Given the description of an element on the screen output the (x, y) to click on. 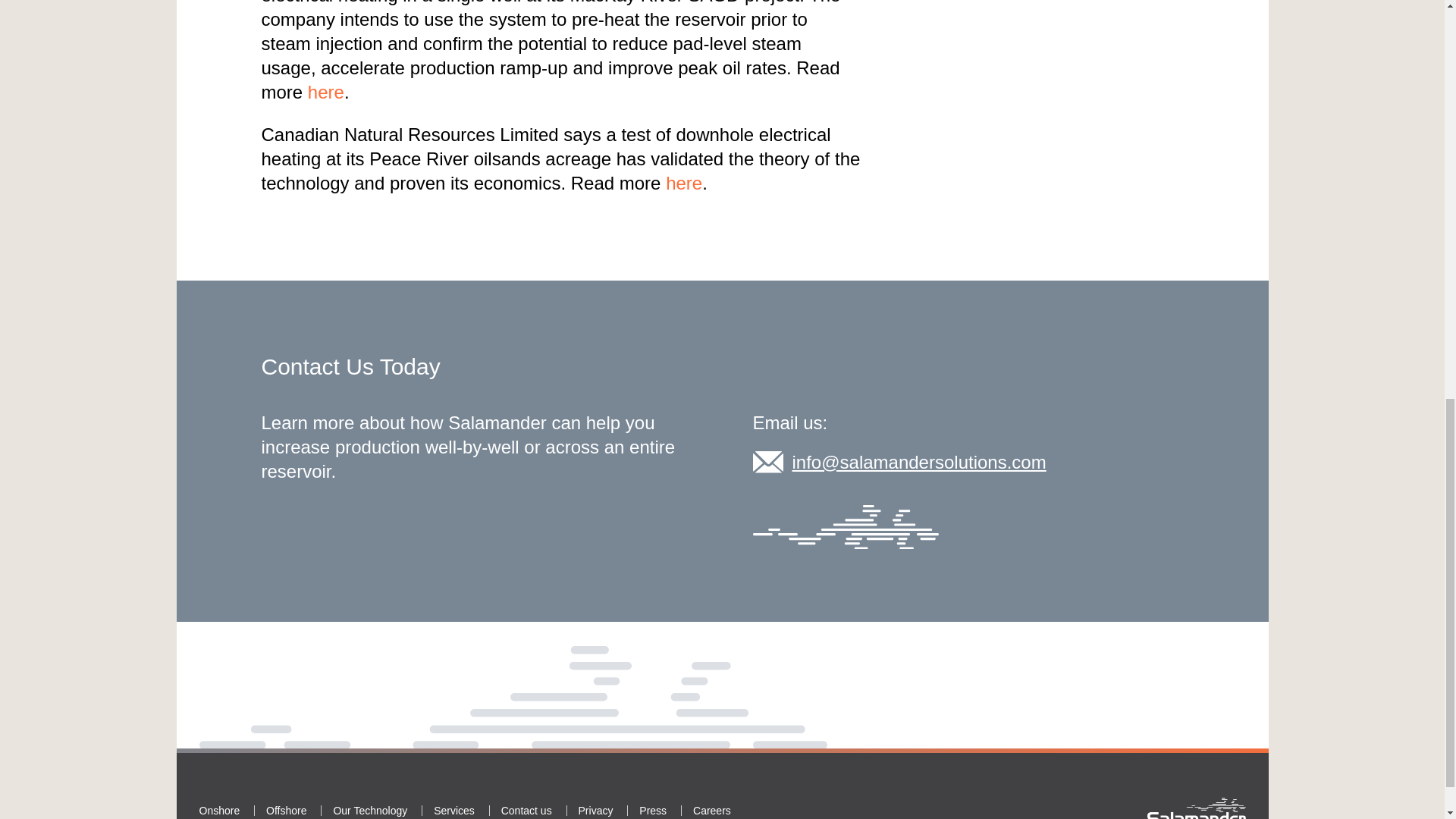
Press (652, 810)
here (683, 182)
Offshore (285, 810)
here (325, 91)
Onshore (219, 810)
Our Technology (370, 810)
Careers (711, 810)
Services (453, 810)
Contact us (525, 810)
Privacy (595, 810)
